Given the description of an element on the screen output the (x, y) to click on. 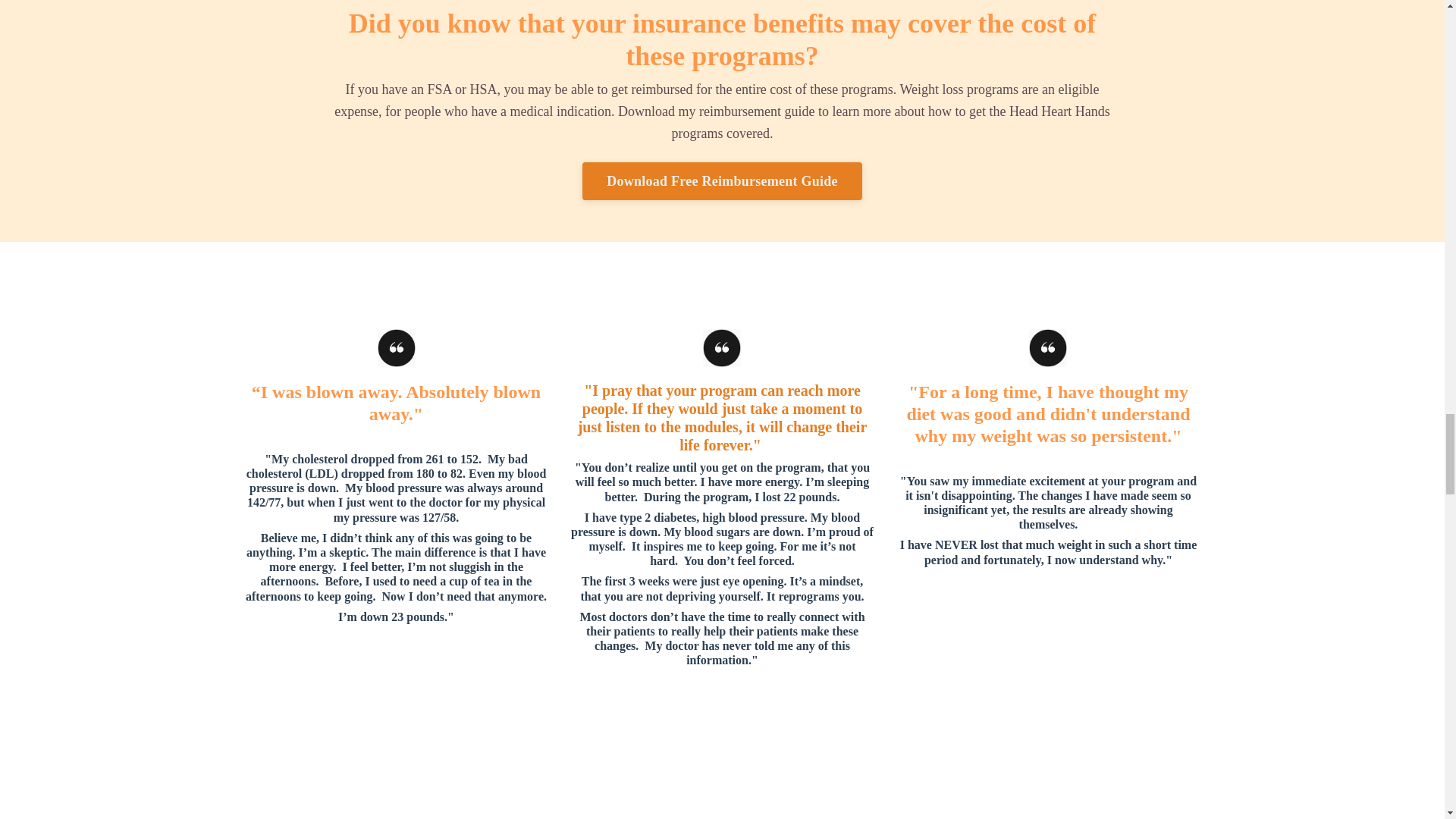
Download Free Reimbursement Guide (721, 180)
